Given the description of an element on the screen output the (x, y) to click on. 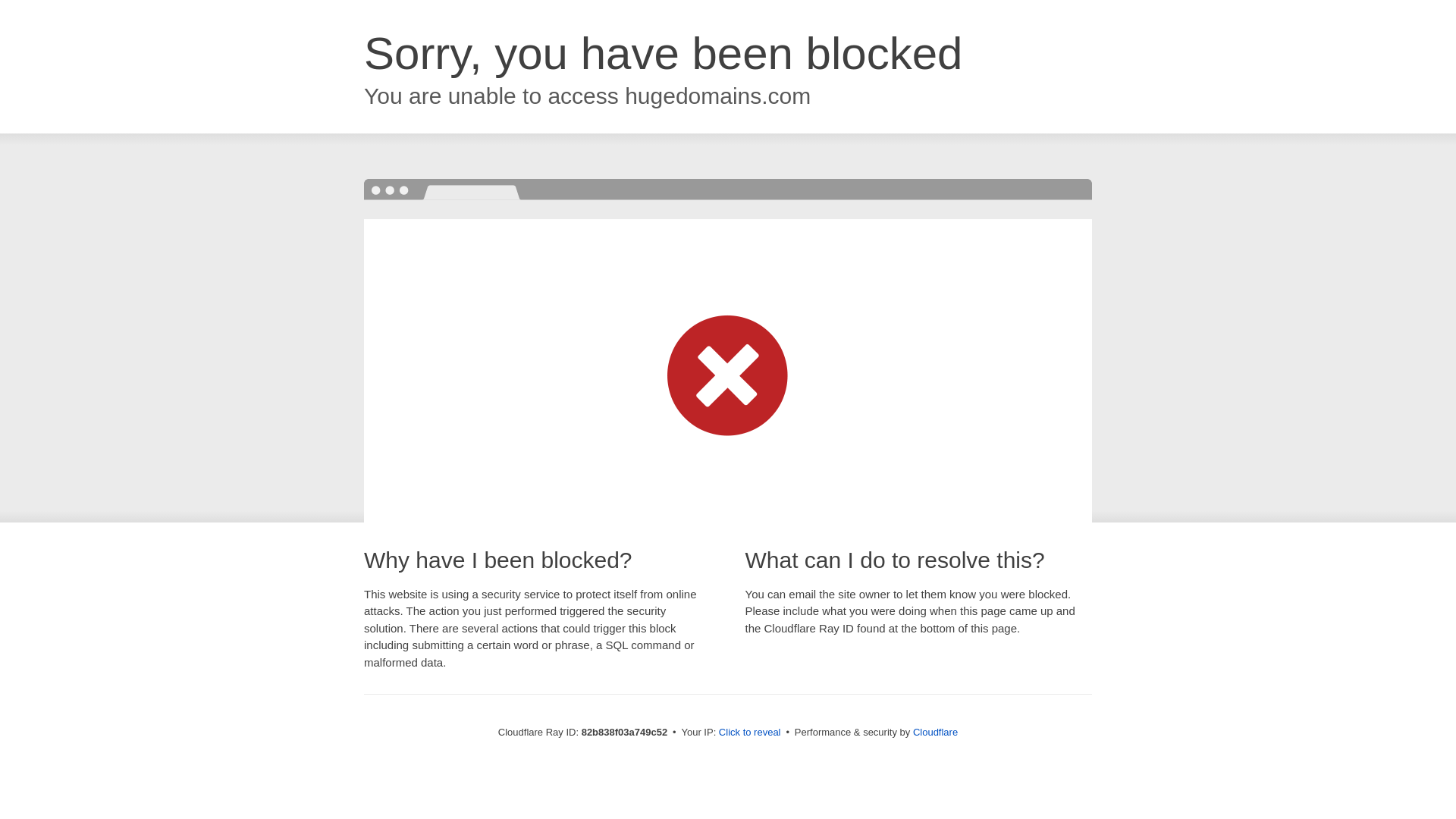
Click to reveal Element type: text (749, 732)
Cloudflare Element type: text (935, 731)
